Given the description of an element on the screen output the (x, y) to click on. 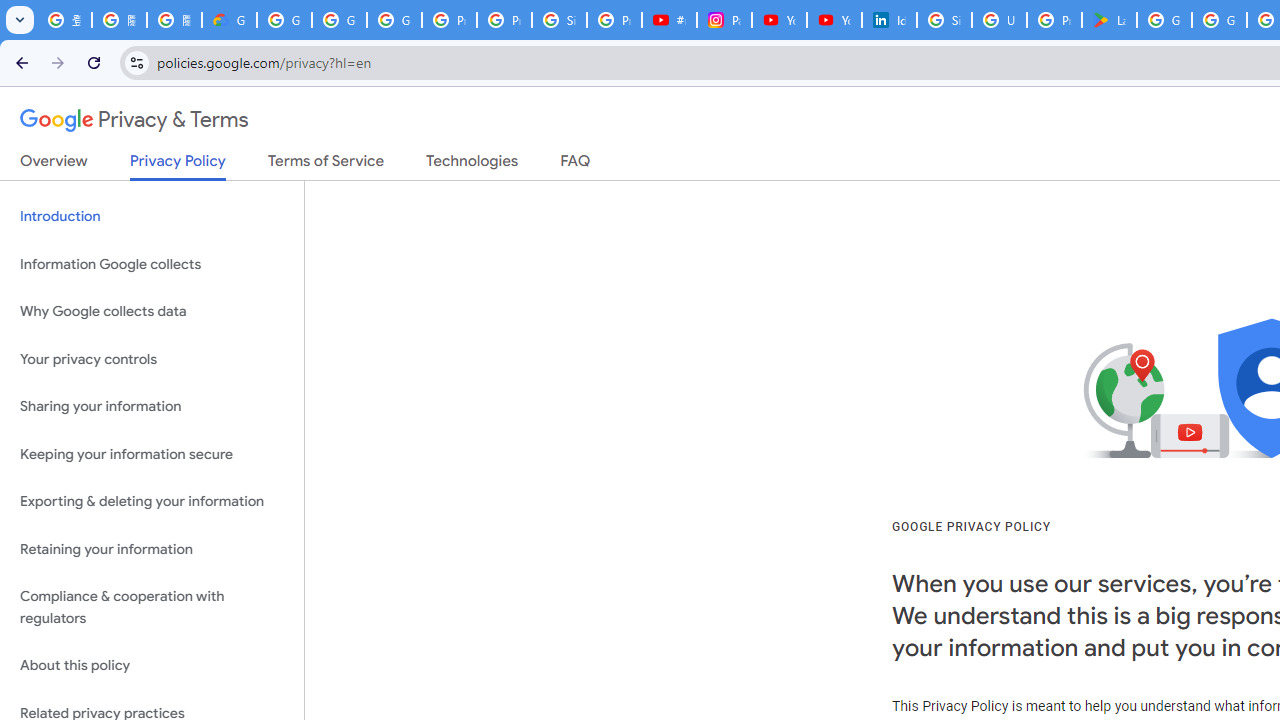
Privacy Help Center - Policies Help (504, 20)
#nbabasketballhighlights - YouTube (669, 20)
YouTube Culture & Trends - YouTube Top 10, 2021 (833, 20)
Last Shelter: Survival - Apps on Google Play (1108, 20)
